Given the description of an element on the screen output the (x, y) to click on. 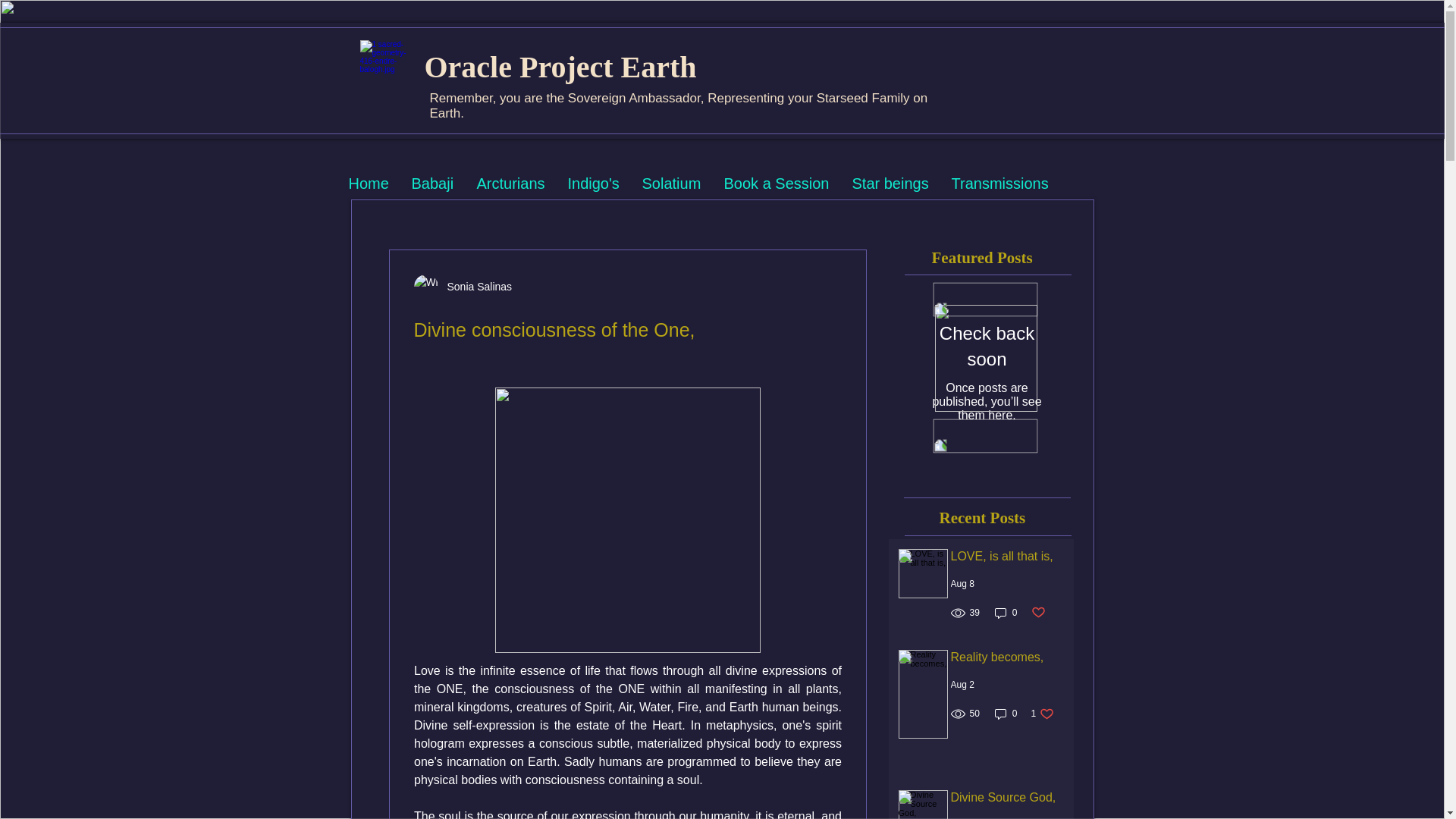
Arcturians (510, 183)
Solatium (671, 183)
Sonia Salinas (475, 286)
Oracle Project Earth (561, 66)
Reality becomes, (1010, 660)
Moi.jpg (985, 357)
Indigo's (593, 183)
0 (1005, 713)
LOVE, is all that is, (1010, 558)
Aug 2 (962, 684)
